Given the description of an element on the screen output the (x, y) to click on. 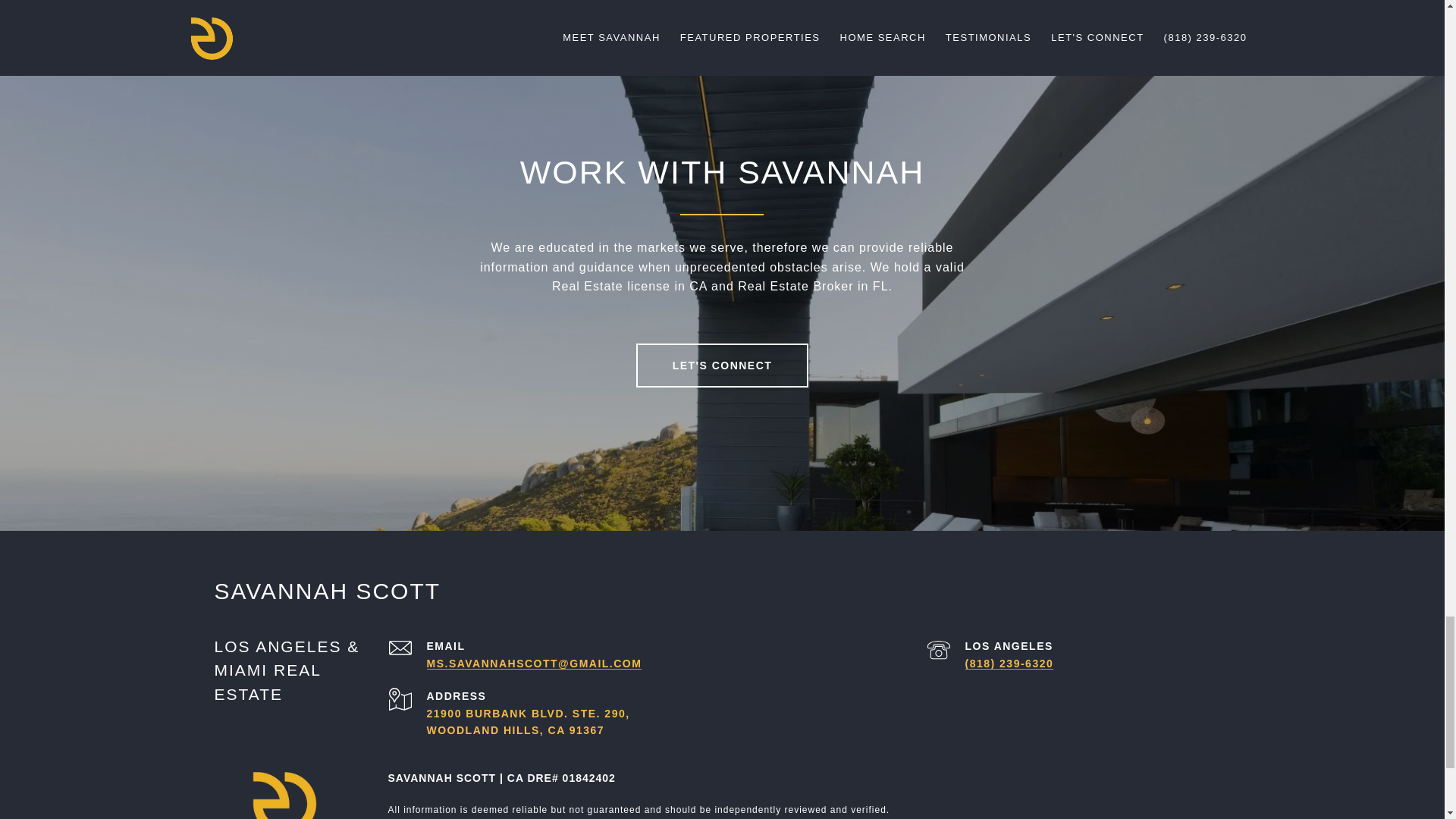
LET'S CONNECT (722, 365)
